Given the description of an element on the screen output the (x, y) to click on. 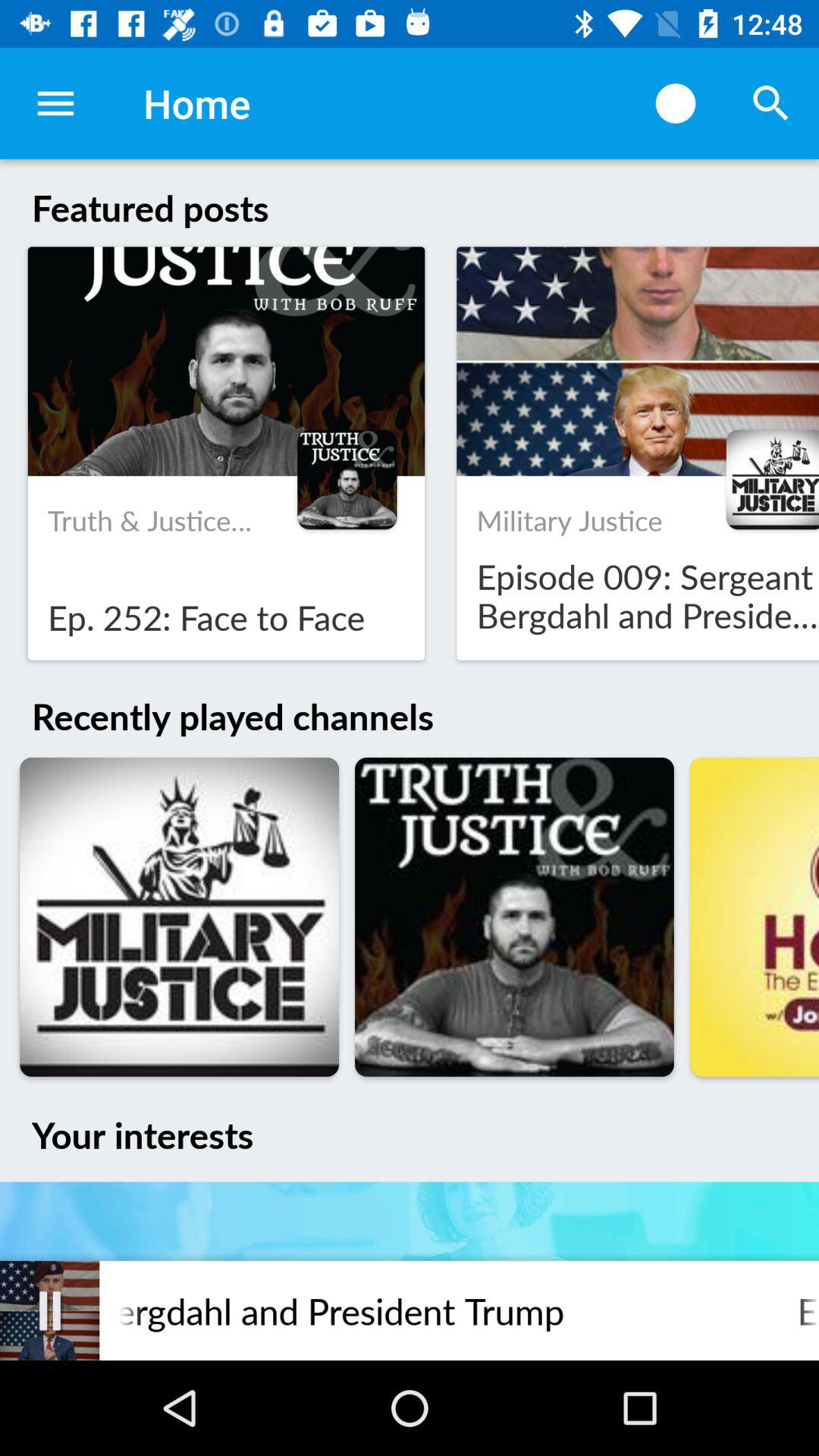
tap the icon to the right of home item (675, 103)
